Given the description of an element on the screen output the (x, y) to click on. 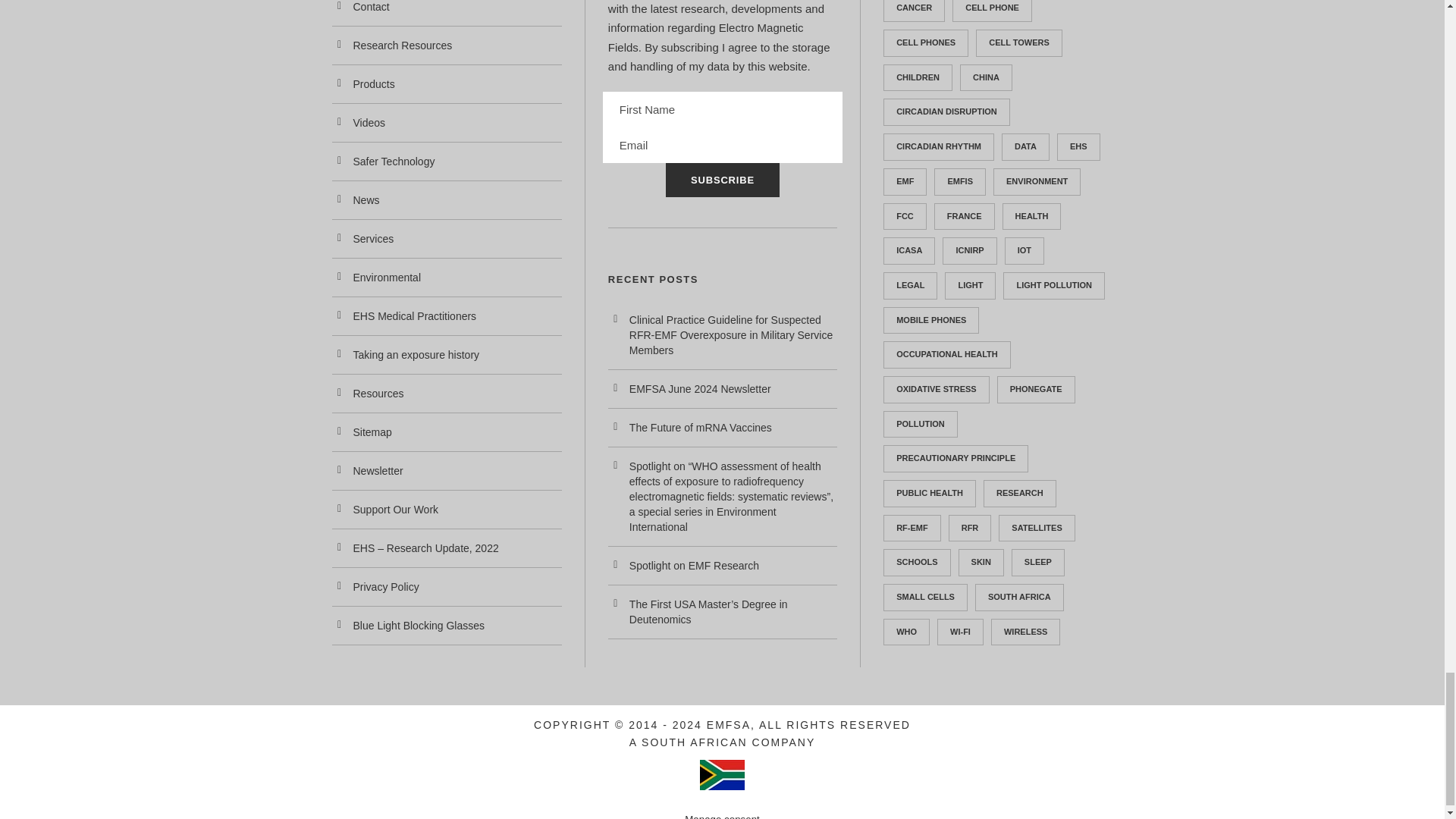
Subscribe (721, 179)
